Given the description of an element on the screen output the (x, y) to click on. 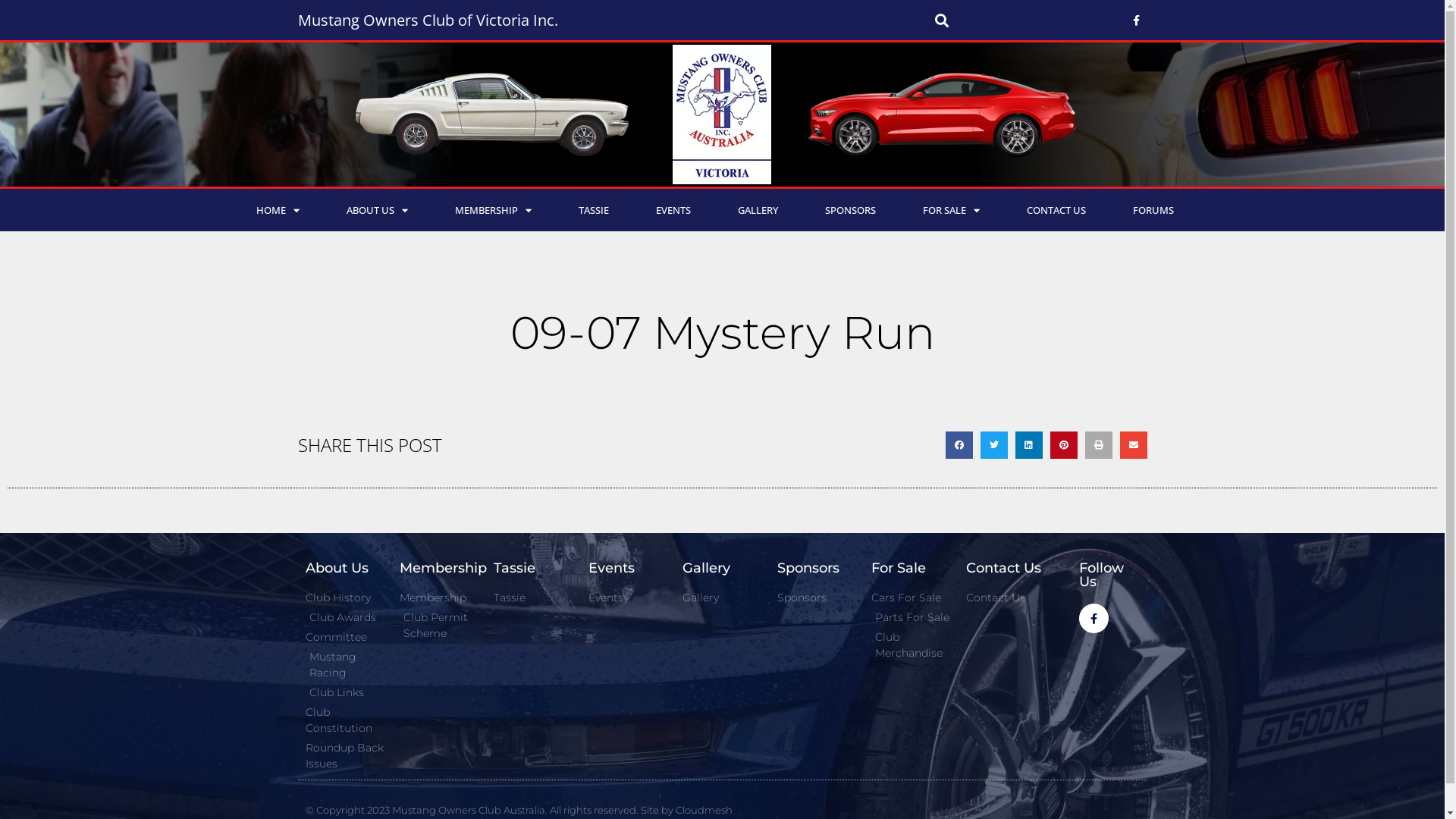
MEMBERSHIP Element type: text (492, 209)
Club History Element type: text (343, 597)
FORUMS Element type: text (1152, 209)
Gallery Element type: text (721, 597)
Tassie Element type: text (532, 597)
Events Element type: text (627, 597)
EVENTS Element type: text (673, 209)
Club Awards Element type: text (343, 617)
Club Merchandise Element type: text (910, 645)
Roundup Back Issues Element type: text (343, 755)
Club Permit Scheme Element type: text (438, 625)
mocavic_logo Element type: hover (721, 114)
mustang_old Element type: hover (490, 114)
TASSIE Element type: text (593, 209)
Cars For Sale Element type: text (910, 597)
Contact Us Element type: text (1005, 597)
Mustang Racing Element type: text (343, 664)
ABOUT US Element type: text (377, 209)
HOME Element type: text (277, 209)
Parts For Sale Element type: text (910, 617)
SPONSORS Element type: text (849, 209)
CONTACT US Element type: text (1055, 209)
FOR SALE Element type: text (951, 209)
Membership Element type: text (438, 597)
GALLERY Element type: text (757, 209)
Committee Element type: text (343, 637)
Cloudmesh Element type: text (702, 809)
Sponsors Element type: text (816, 597)
Club Links Element type: text (343, 692)
Club Constitution Element type: text (343, 720)
